Given the description of an element on the screen output the (x, y) to click on. 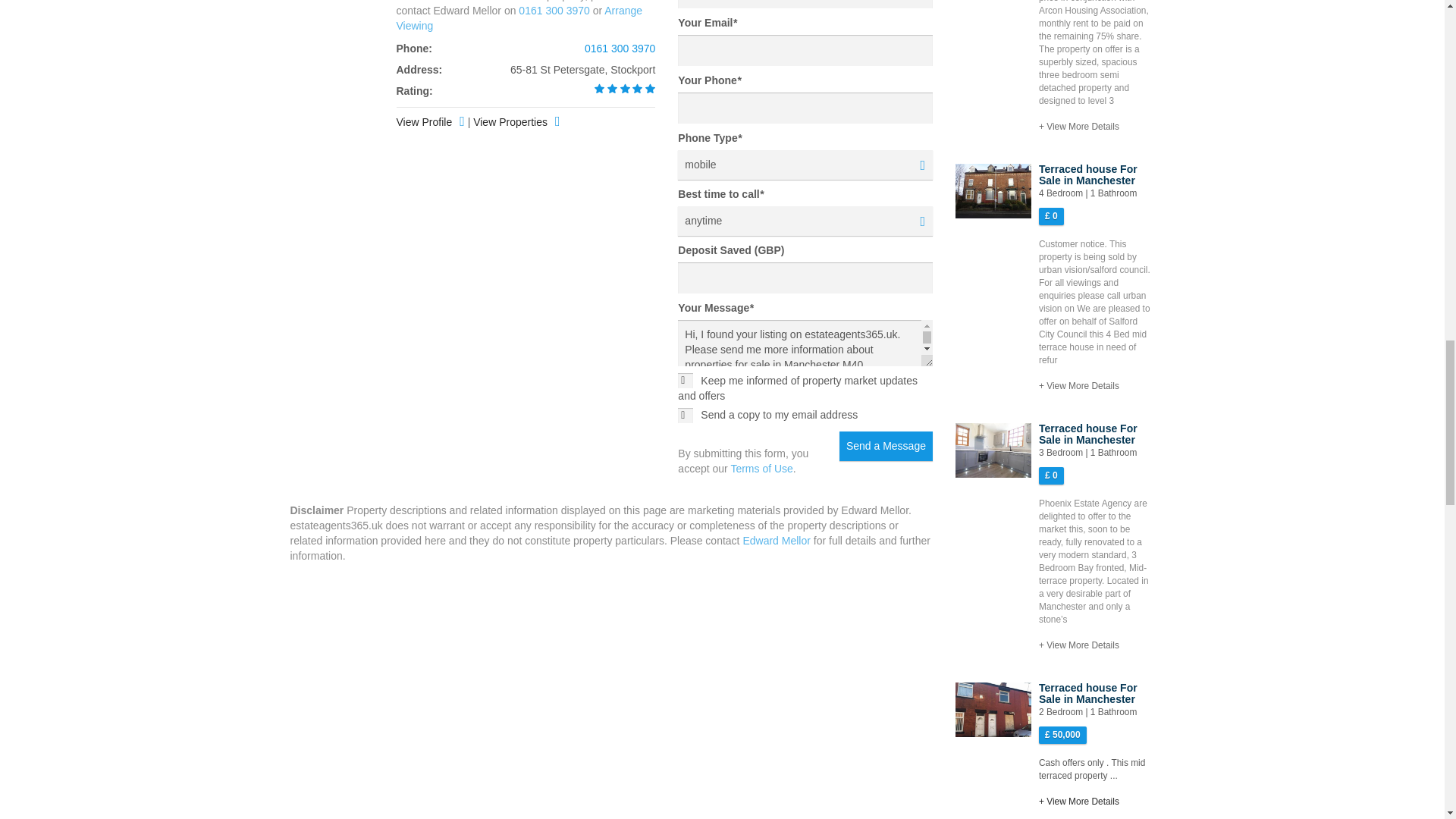
0161 300 3970 (620, 48)
View Profile (430, 122)
0161 300 3970 (553, 10)
Arrange Viewing (805, 220)
View Properties (519, 17)
